Given the description of an element on the screen output the (x, y) to click on. 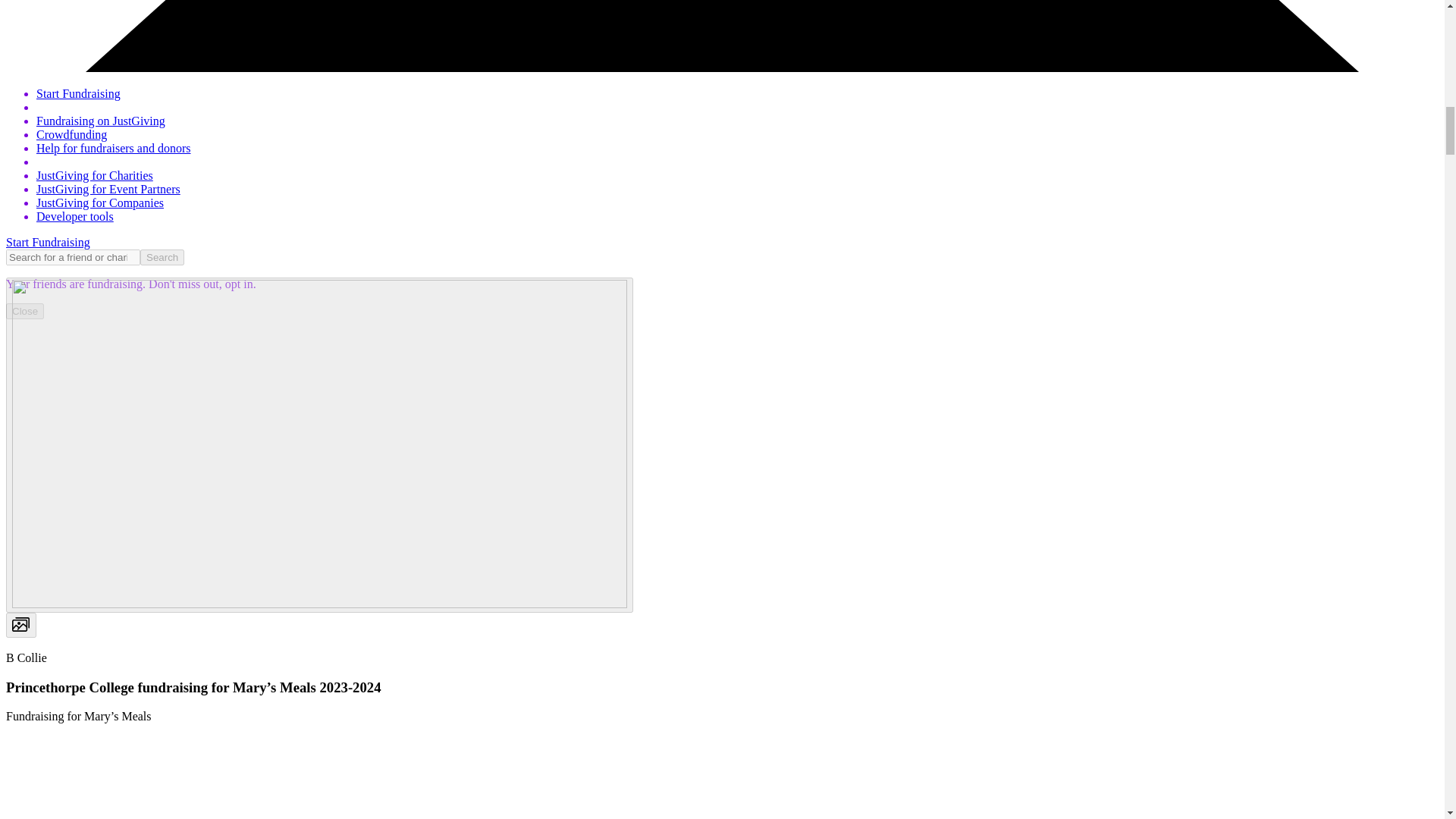
Search (161, 257)
Fundraising on JustGiving (100, 120)
Help for fundraisers and donors (113, 147)
opt in. (239, 283)
JustGiving for Event Partners (108, 188)
Developer tools (74, 215)
JustGiving for Companies (99, 202)
Search (161, 257)
Crowdfunding (71, 133)
JustGiving for Charities (94, 174)
Start Fundraising (47, 241)
Start Fundraising (78, 92)
Search (161, 257)
Close (24, 311)
